Given the description of an element on the screen output the (x, y) to click on. 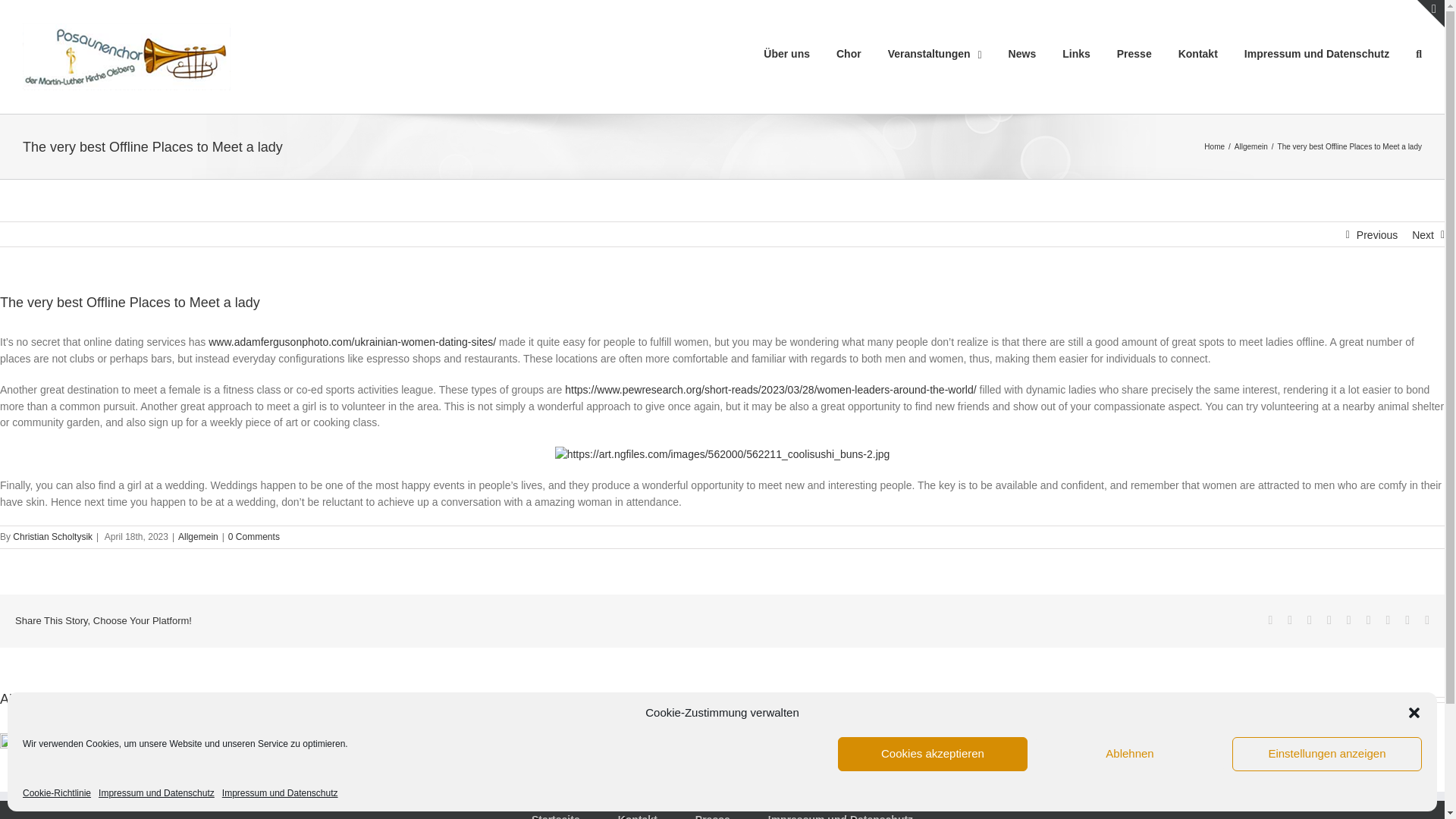
Impressum und Datenschutz (156, 793)
Cookie-Richtlinie (56, 793)
Cookies akzeptieren (932, 754)
Home (1214, 146)
Impressum und Datenschutz (1316, 53)
Allgemein (1251, 146)
Ablehnen (1129, 754)
Impressum und Datenschutz (279, 793)
Einstellungen anzeigen (1326, 754)
